Given the description of an element on the screen output the (x, y) to click on. 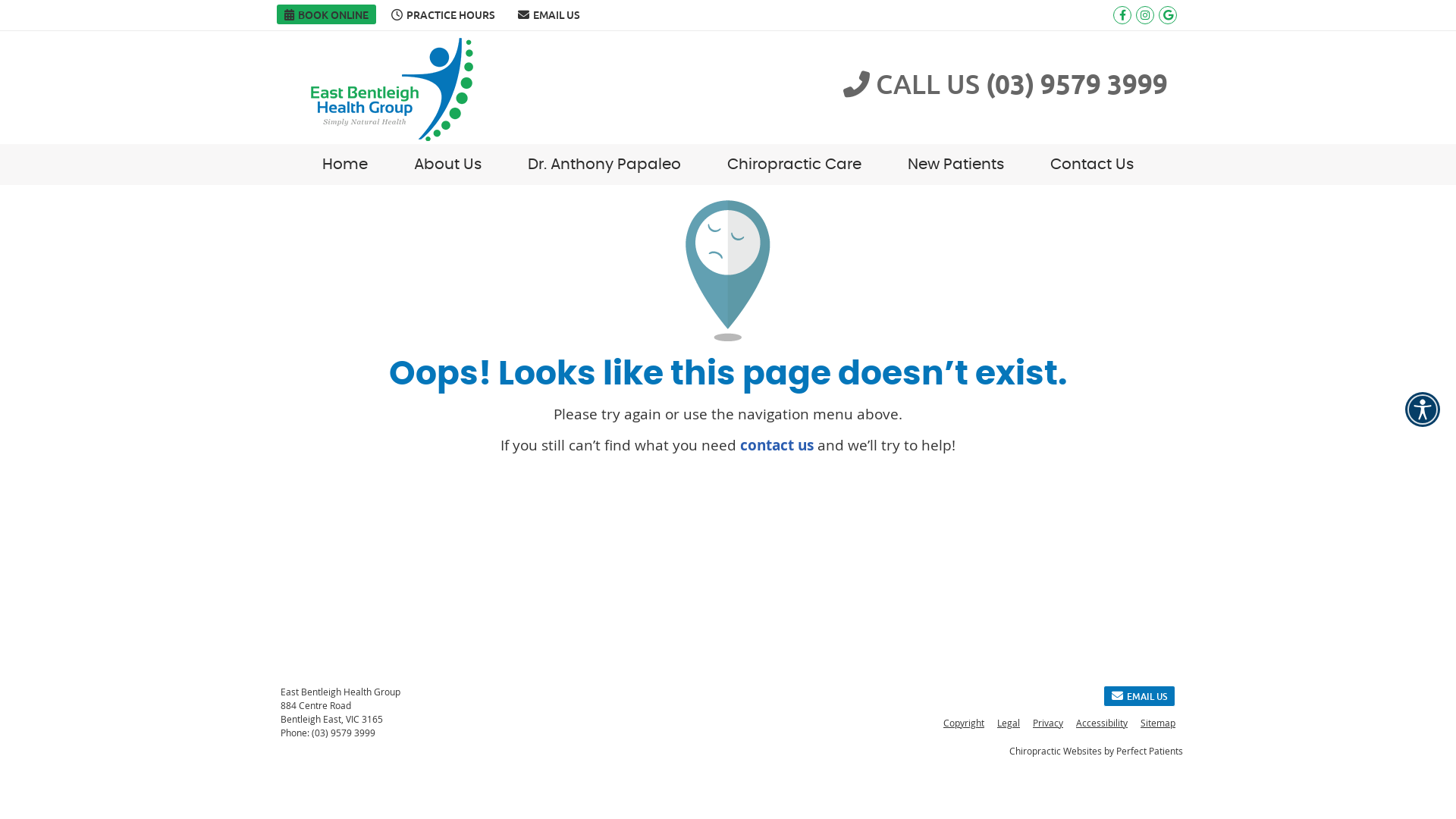
Facebook Social Button Element type: text (1122, 15)
East Bentleigh Health Group Element type: text (391, 135)
BOOK ONLINE Element type: text (326, 14)
Copyright Element type: text (964, 722)
Google Social Button Element type: text (1167, 15)
About Us Element type: text (448, 164)
EMAIL US Element type: text (1139, 695)
PRACTICE HOURS Element type: text (442, 14)
Home Element type: text (345, 164)
Dr. Anthony Papaleo Element type: text (604, 164)
New Patients Element type: text (955, 164)
Instagram Social Button Element type: text (1144, 15)
Chiropractic Care Element type: text (794, 164)
Accessibility Element type: text (1102, 722)
Privacy Element type: text (1048, 722)
(03) 9579 3999 Element type: text (343, 732)
EMAIL US Element type: text (548, 14)
Sitemap Element type: text (1154, 722)
Legal Element type: text (1008, 722)
Contact Us Element type: text (1091, 164)
contact us Element type: text (776, 445)
